Given the description of an element on the screen output the (x, y) to click on. 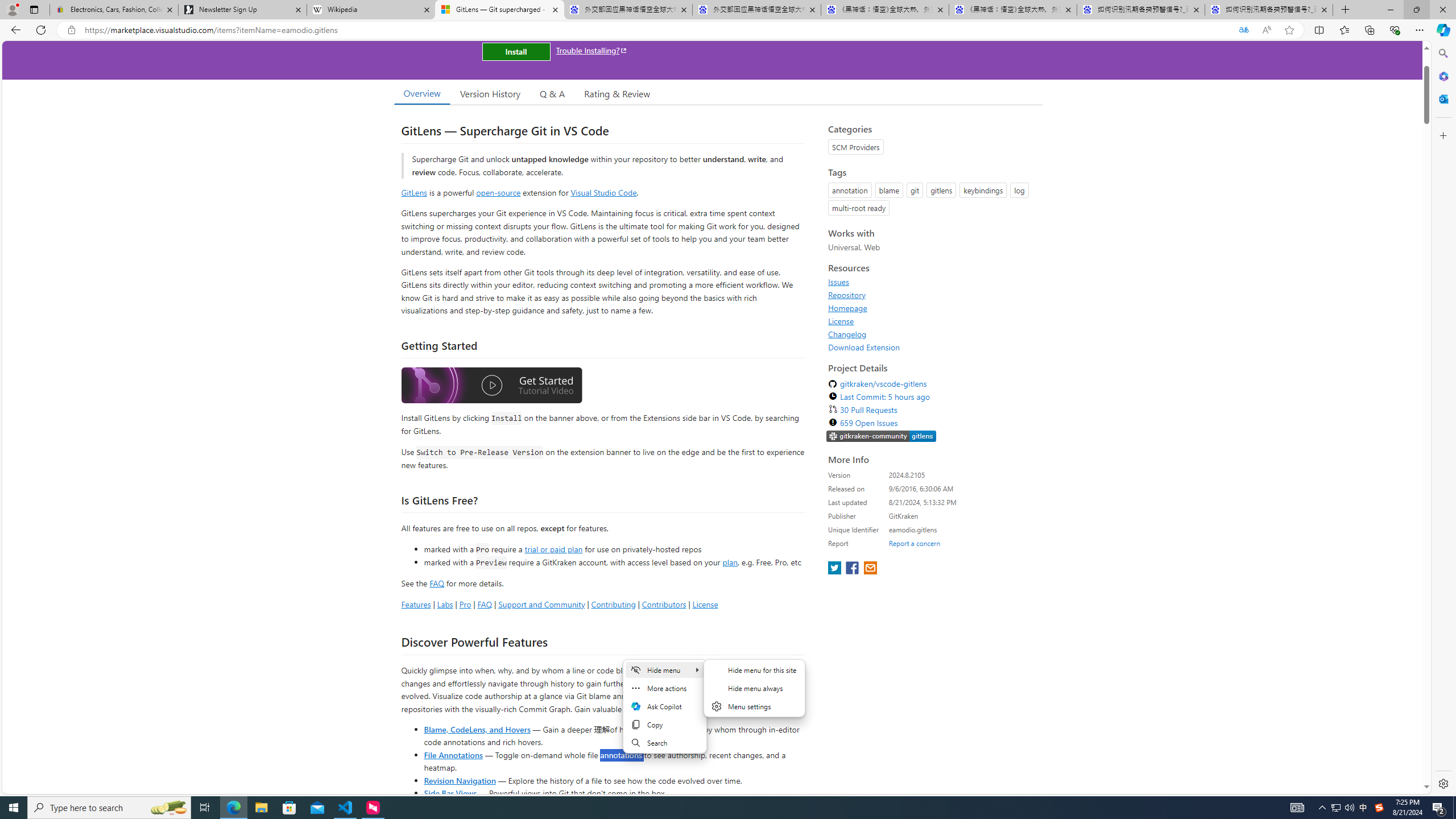
https://slack.gitkraken.com// (881, 436)
Newsletter Sign Up (242, 9)
Blame, CodeLens, and Hovers (476, 728)
Issues (931, 281)
trial or paid plan (553, 548)
Hide menu (754, 694)
Copy (664, 724)
Mini menu on text selection (664, 713)
